Given the description of an element on the screen output the (x, y) to click on. 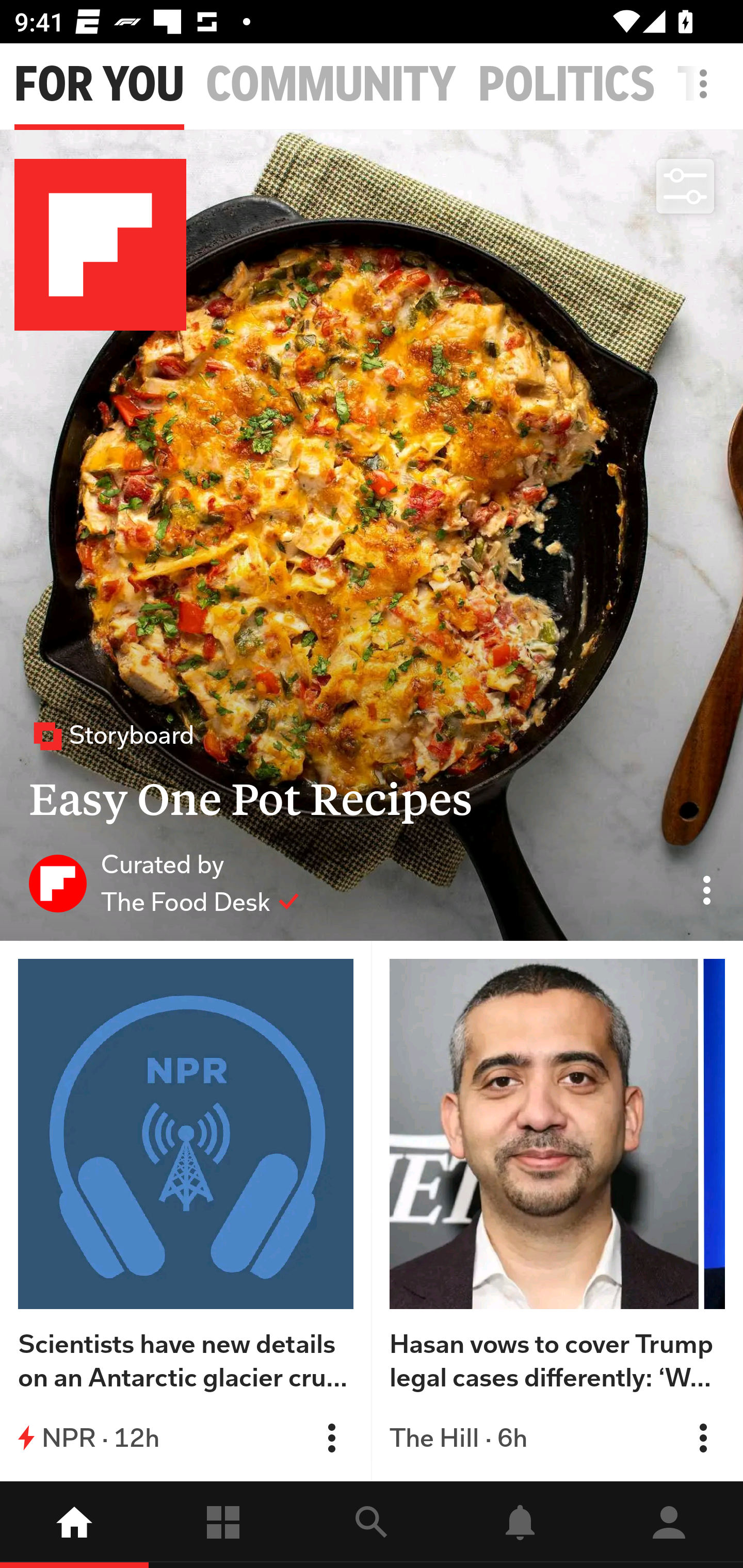
FOR YOU (99, 84)
COMMUNITY (330, 84)
POLITICS (567, 84)
Edit Home (697, 83)
TECHNOLOGY (710, 84)
Curated by The Food Desk (163, 882)
NPR · 12h Flip into Magazine (185, 1437)
The Hill · 6h Flip into Magazine (557, 1437)
Flip into Magazine (331, 1437)
Flip into Magazine (703, 1437)
home (74, 1524)
Following (222, 1524)
explore (371, 1524)
Notifications (519, 1524)
Profile (668, 1524)
